Given the description of an element on the screen output the (x, y) to click on. 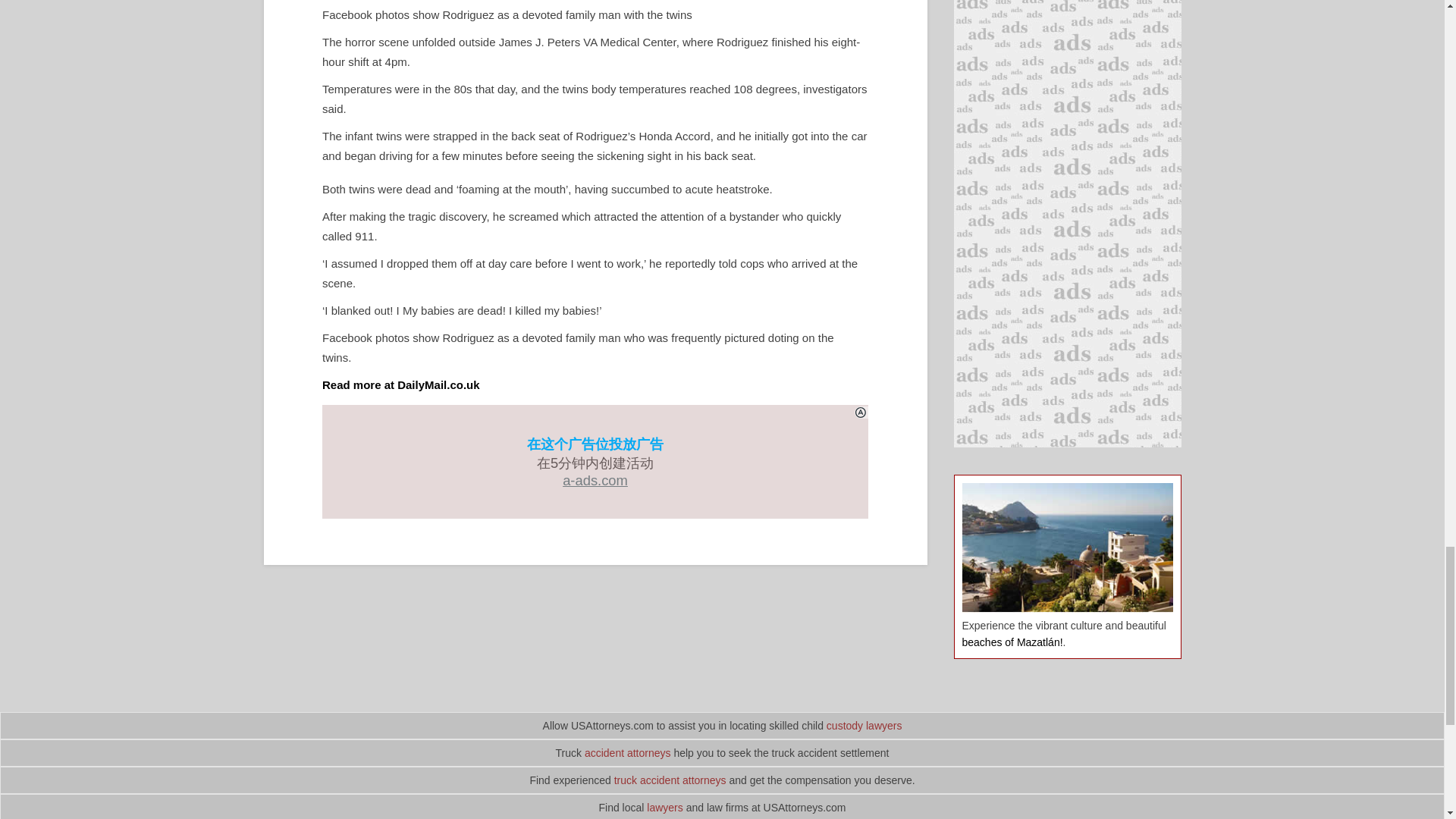
lawyers (664, 807)
Read more at DailyMail.co.uk (400, 384)
custody lawyers (864, 725)
truck accident attorneys (670, 779)
accident attorneys (628, 752)
